Given the description of an element on the screen output the (x, y) to click on. 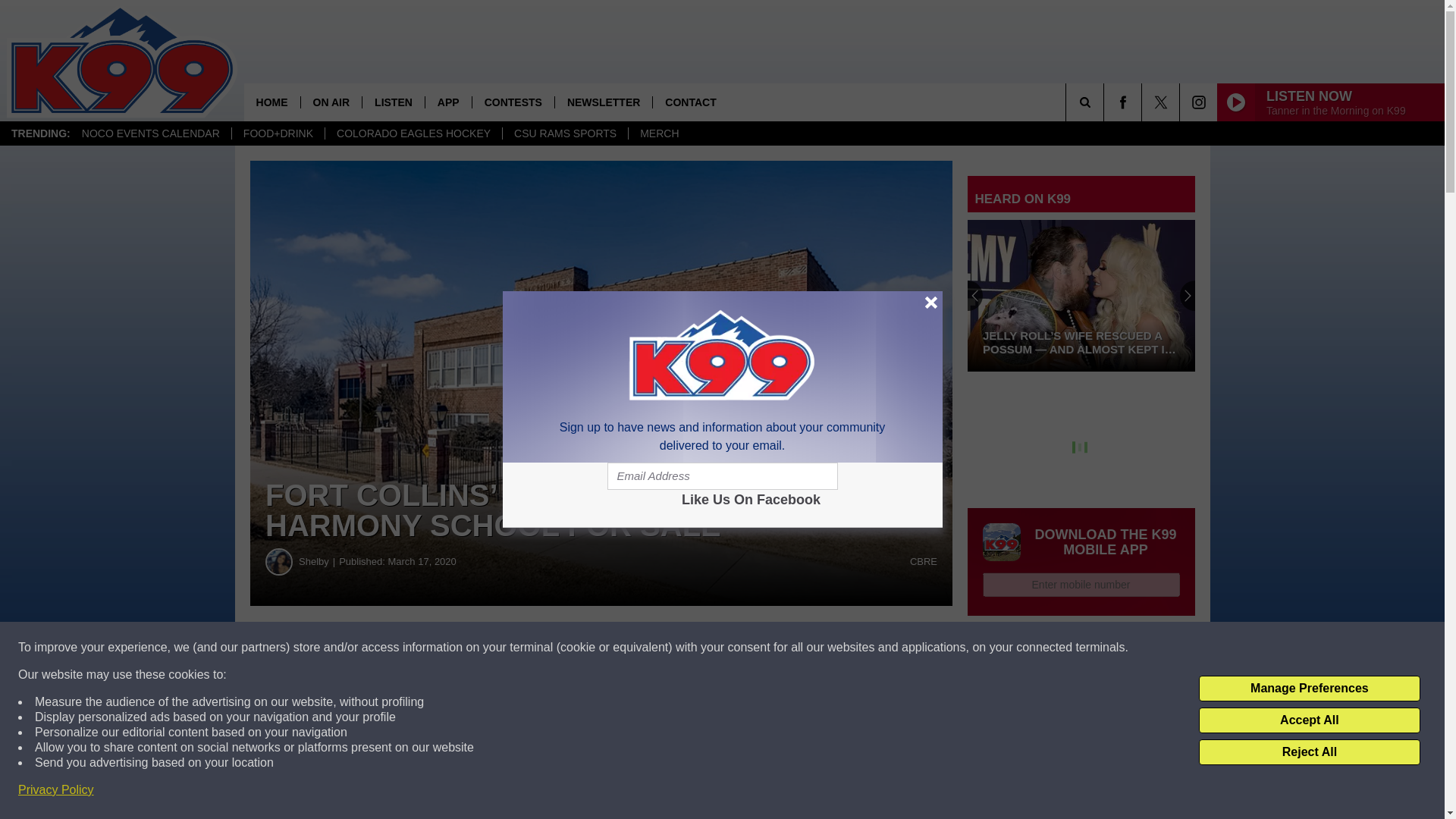
Privacy Policy (55, 789)
Share on Twitter (741, 647)
LISTEN (393, 102)
SEARCH (1106, 102)
Share on Facebook (460, 647)
NOCO EVENTS CALENDAR (150, 133)
CONTACT (690, 102)
COLORADO EAGLES HOCKEY (413, 133)
NEWSLETTER (603, 102)
APP (448, 102)
ON AIR (330, 102)
SEARCH (1106, 102)
HOME (271, 102)
Manage Preferences (1309, 688)
CSU RAMS SPORTS (564, 133)
